Given the description of an element on the screen output the (x, y) to click on. 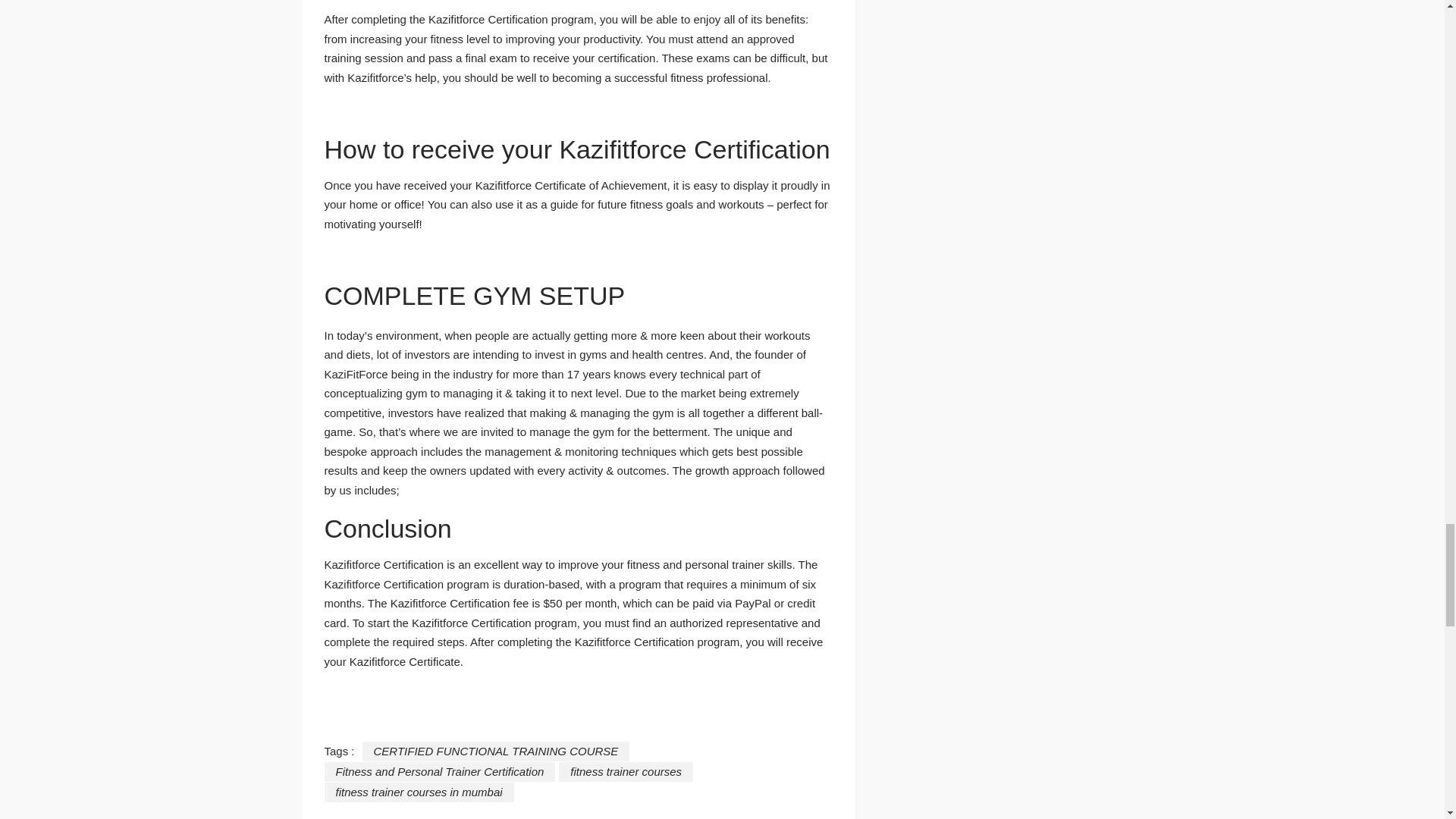
fitness trainer courses (626, 772)
CERTIFIED FUNCTIONAL TRAINING COURSE (496, 751)
Fitness and Personal Trainer Certification (440, 772)
